Given the description of an element on the screen output the (x, y) to click on. 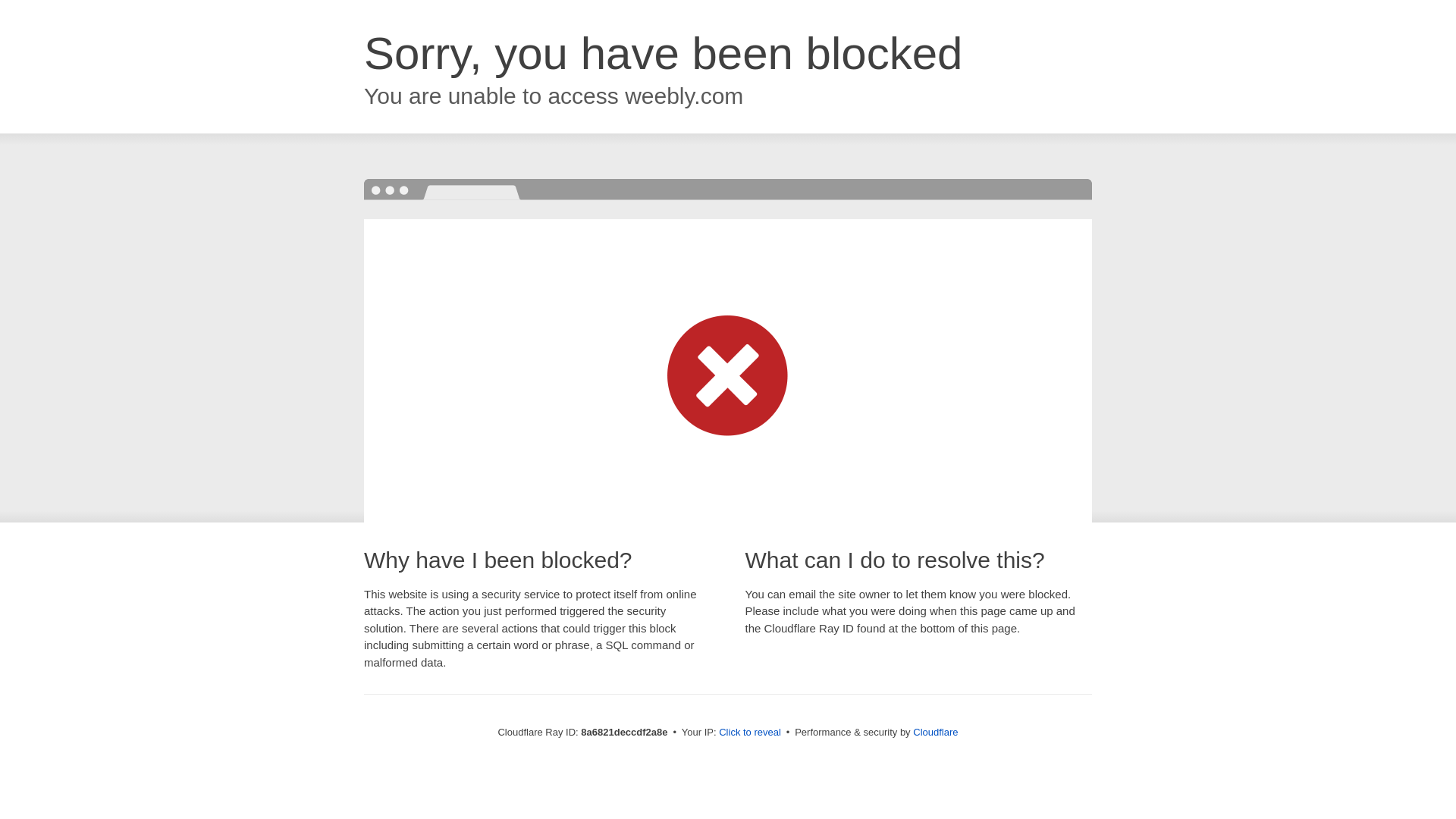
Cloudflare (935, 731)
Click to reveal (749, 732)
